Given the description of an element on the screen output the (x, y) to click on. 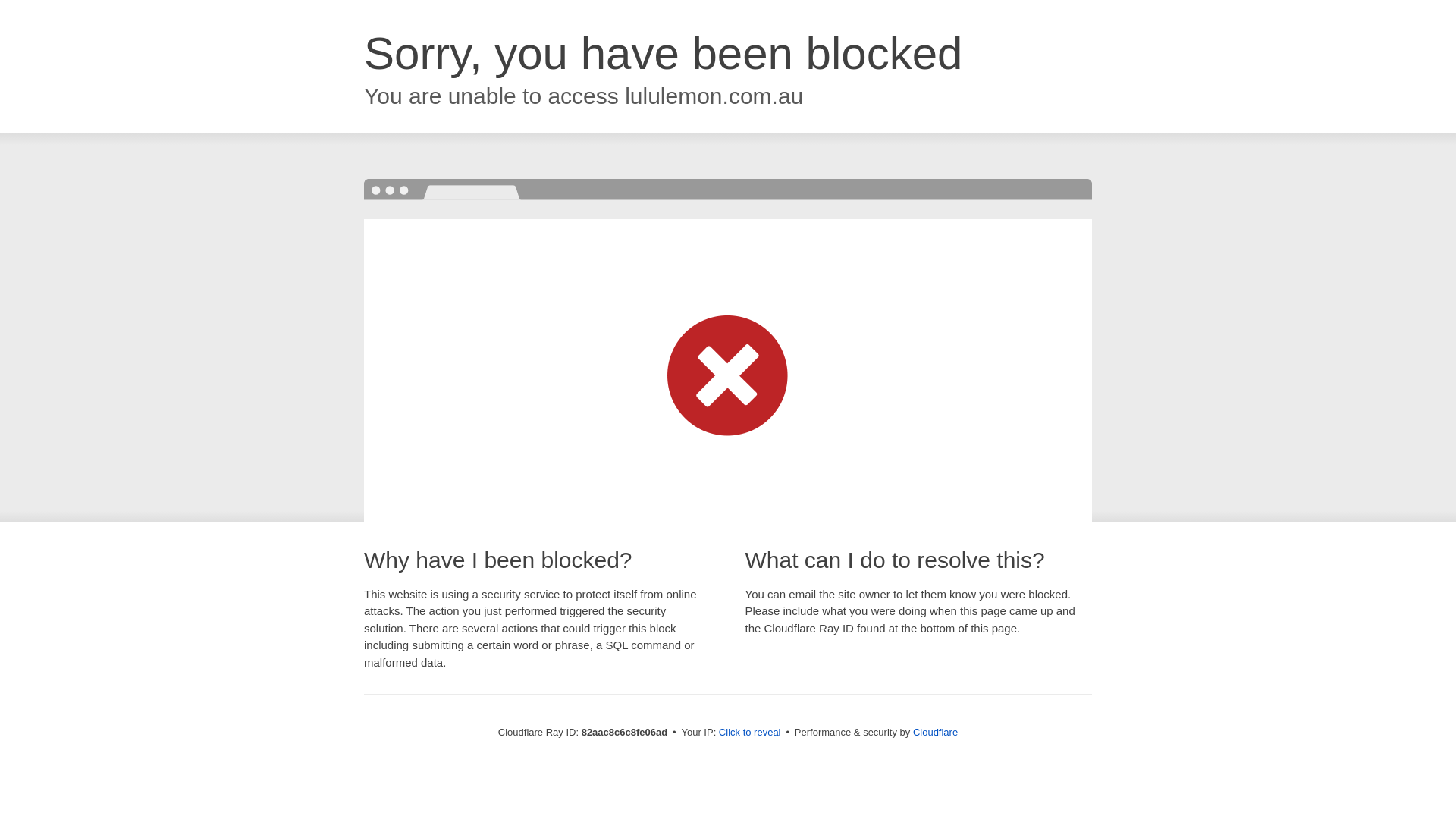
Cloudflare Element type: text (935, 731)
Click to reveal Element type: text (749, 732)
